Given the description of an element on the screen output the (x, y) to click on. 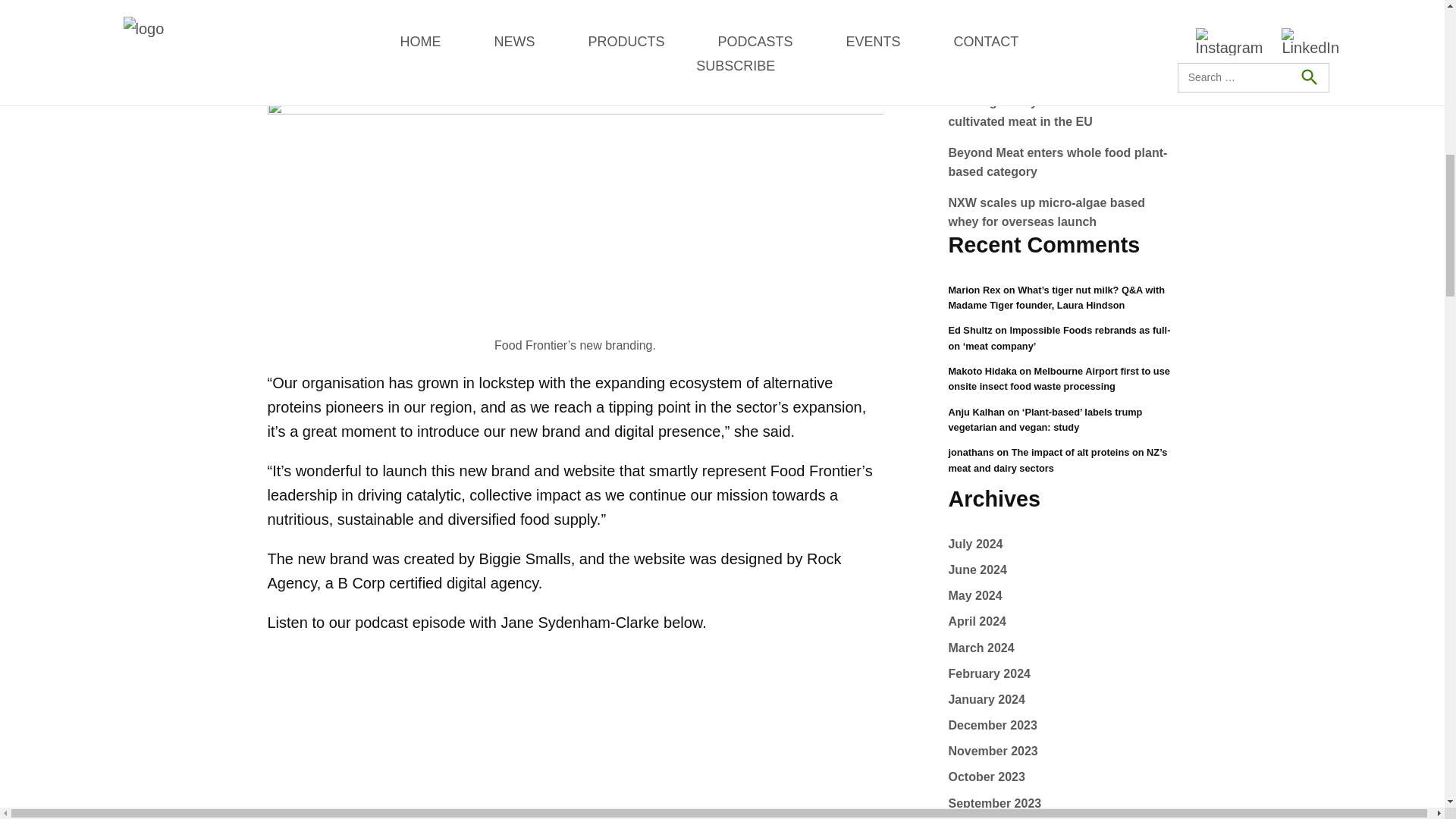
July 2024 (975, 569)
August 2024 (983, 543)
March 2024 (980, 673)
February 2024 (988, 698)
took over from founder Thomas King (645, 21)
April 2024 (976, 647)
Beyond Meat enters whole food plant-based category  (1057, 212)
May 2024 (974, 621)
June 2024 (976, 594)
Plantein plant-based meat range launches in Woolworths  (1040, 111)
jonathans (969, 451)
